Given the description of an element on the screen output the (x, y) to click on. 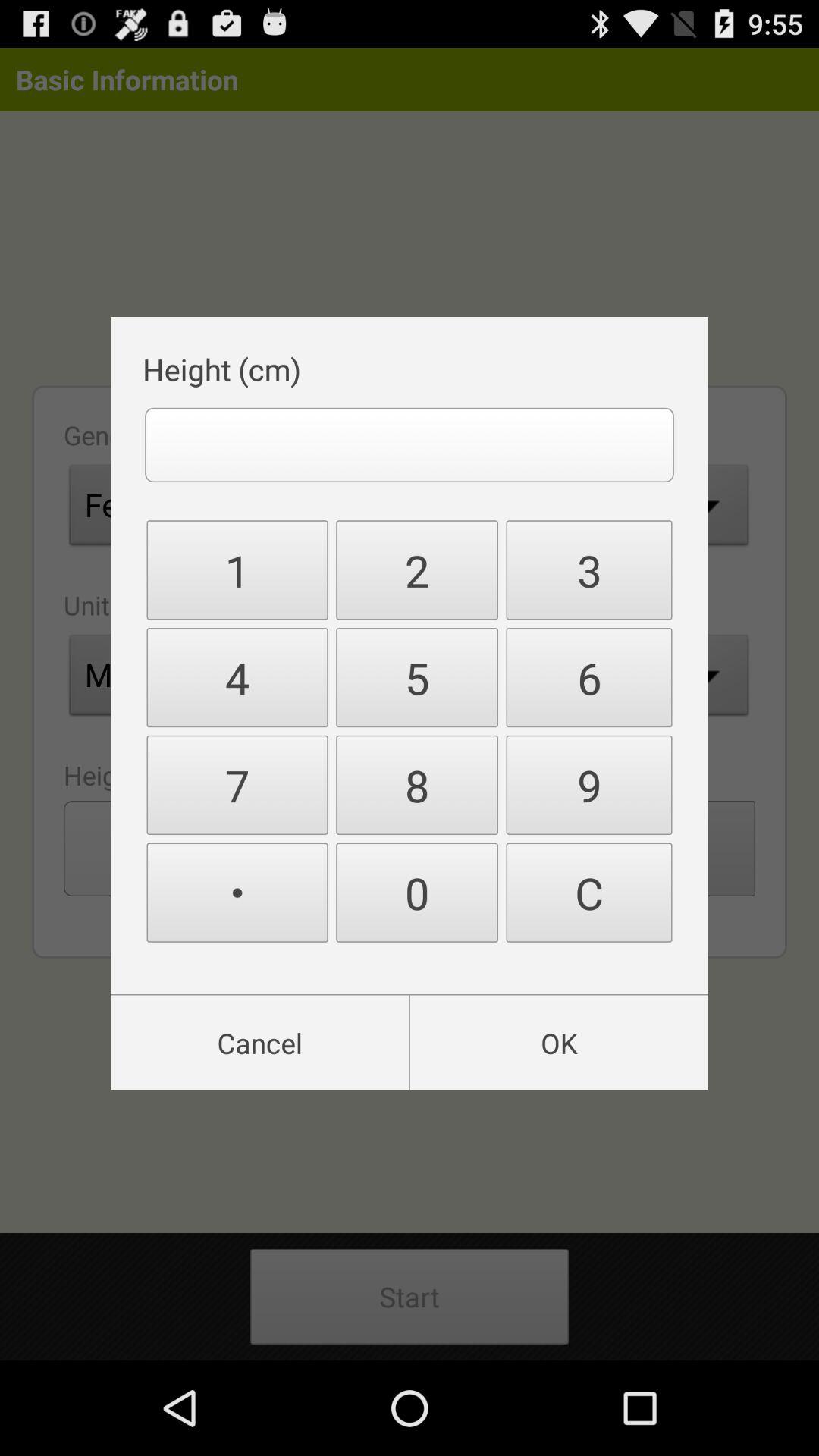
launch item next to 2 (589, 677)
